Given the description of an element on the screen output the (x, y) to click on. 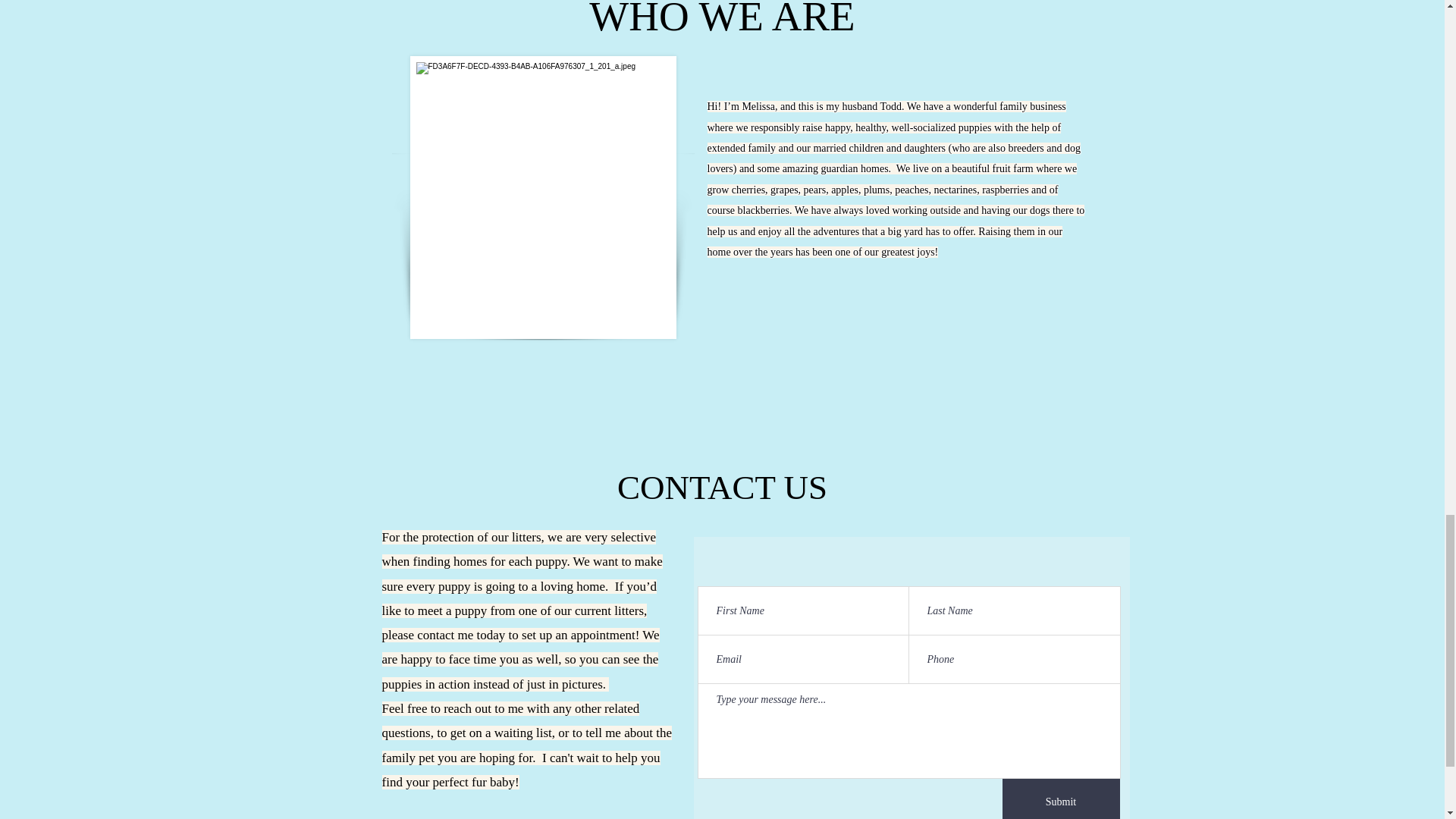
Submit (1061, 798)
